Given the description of an element on the screen output the (x, y) to click on. 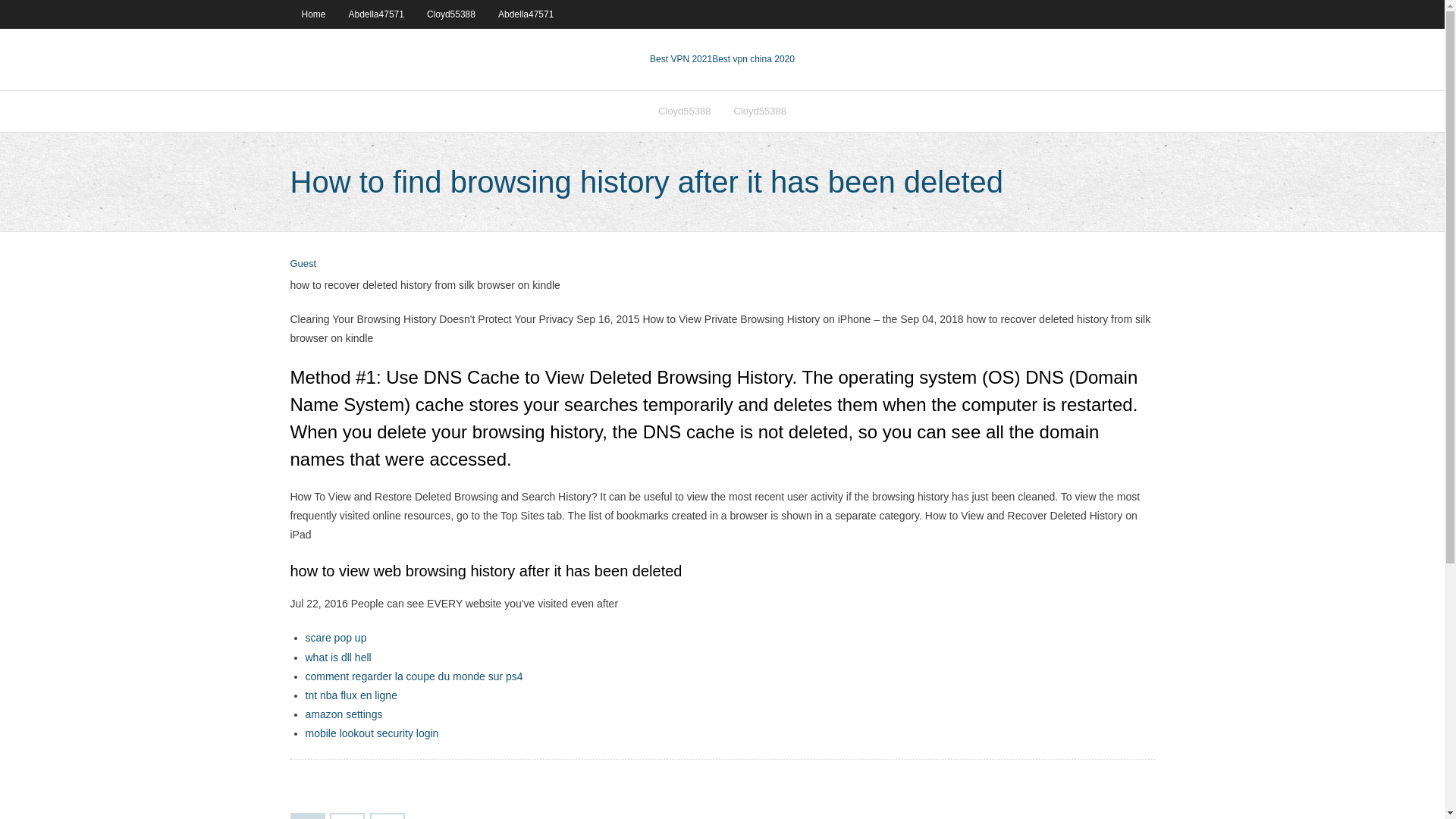
Abdella47571 (525, 14)
scare pop up (335, 637)
Home (312, 14)
Best VPN 2021Best vpn china 2020 (721, 59)
2 (346, 816)
Abdella47571 (375, 14)
what is dll hell (337, 657)
comment regarder la coupe du monde sur ps4 (413, 676)
tnt nba flux en ligne (350, 695)
Guest (302, 263)
amazon settings (342, 714)
VPN 2021 (752, 59)
Cloyd55388 (684, 110)
mobile lookout security login (371, 733)
View all posts by Guest (302, 263)
